Given the description of an element on the screen output the (x, y) to click on. 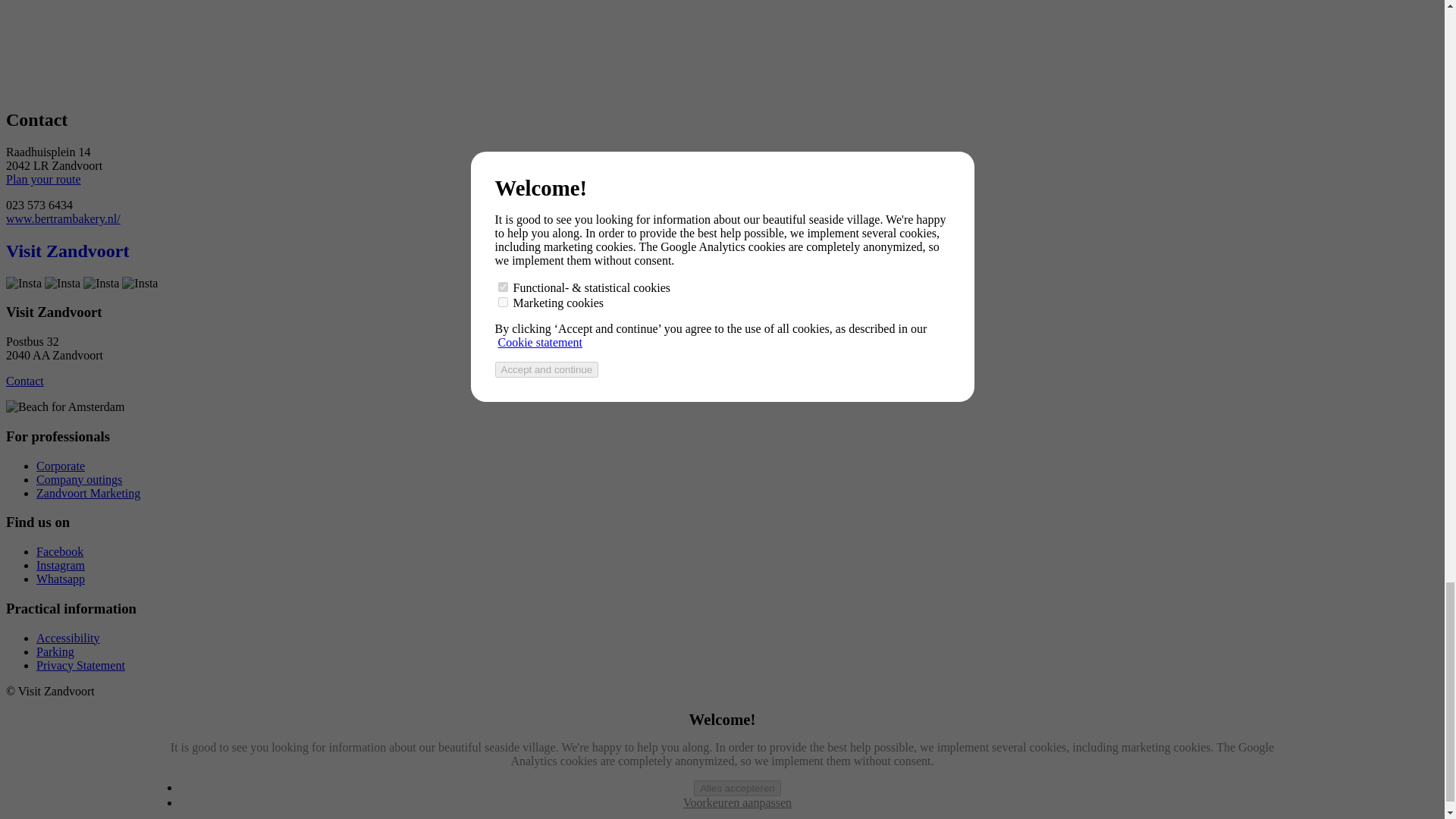
Corporate (60, 465)
Visit Zandvoort (67, 250)
Company outings (79, 479)
Contact (24, 380)
Facebook (59, 551)
Instagram (60, 564)
Zandvoort Marketing (87, 492)
Alles accepteren (737, 788)
Plan your route (43, 178)
